Given the description of an element on the screen output the (x, y) to click on. 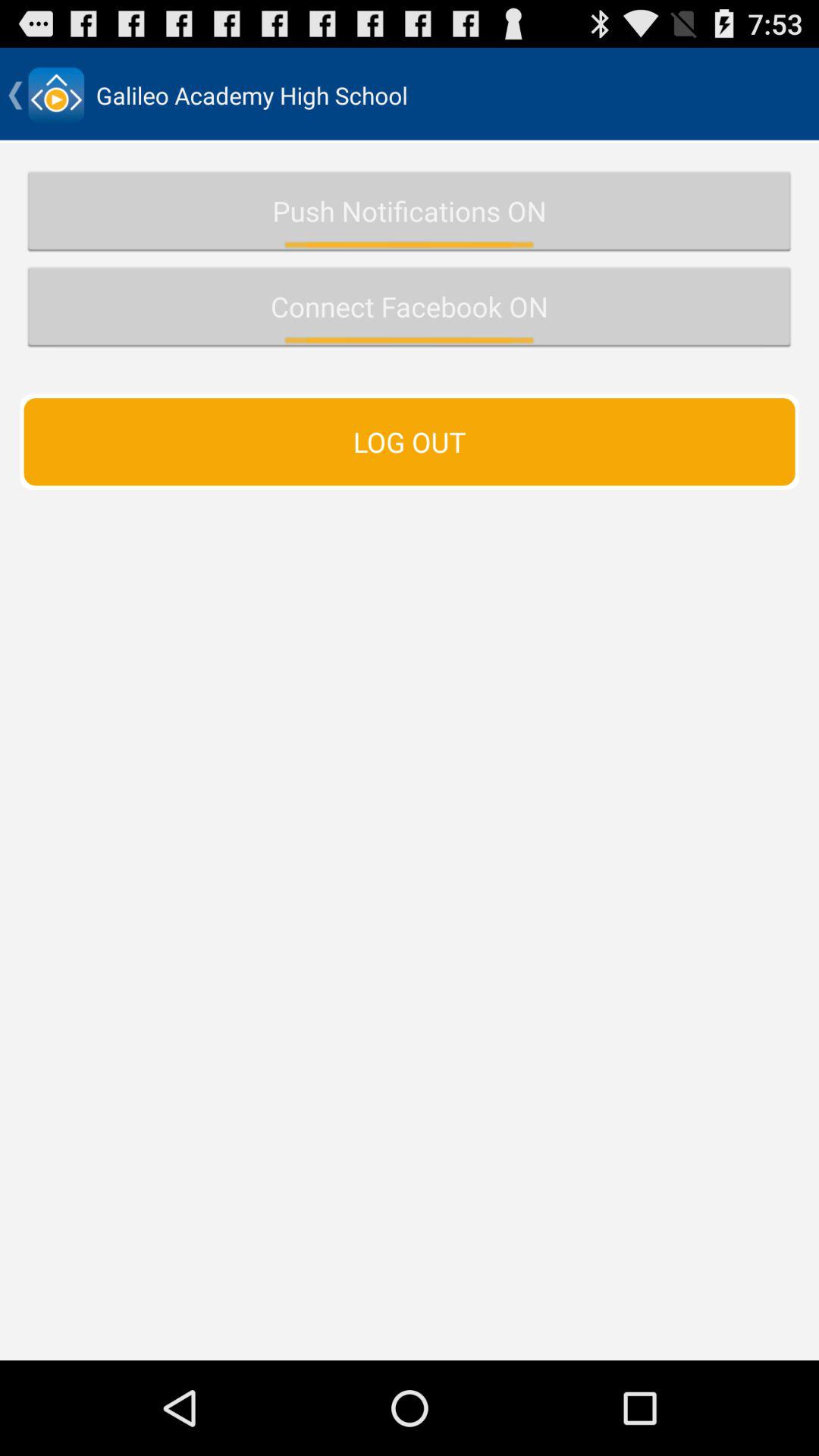
tap the log out icon (409, 441)
